Given the description of an element on the screen output the (x, y) to click on. 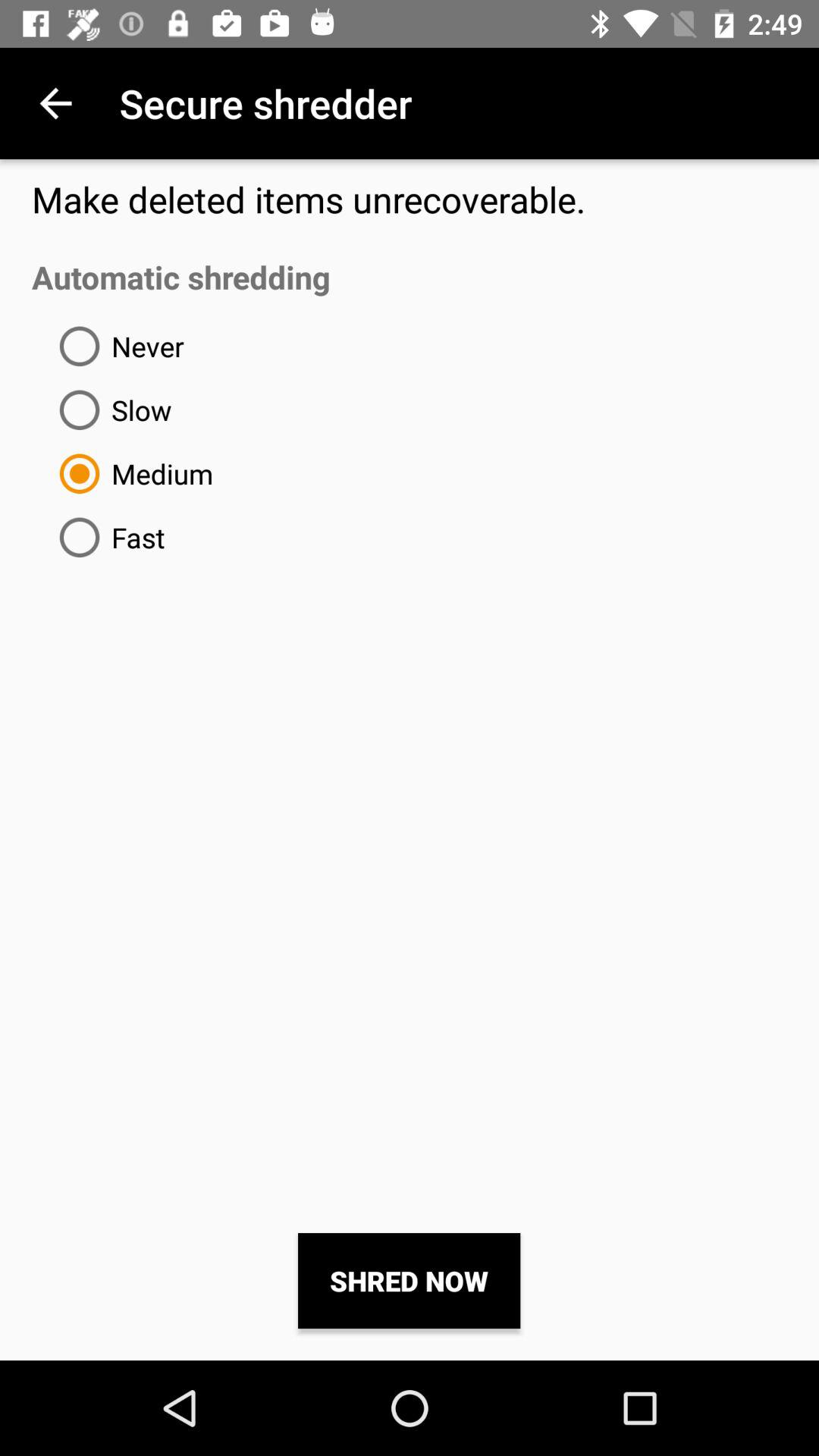
turn on the slow (109, 409)
